Given the description of an element on the screen output the (x, y) to click on. 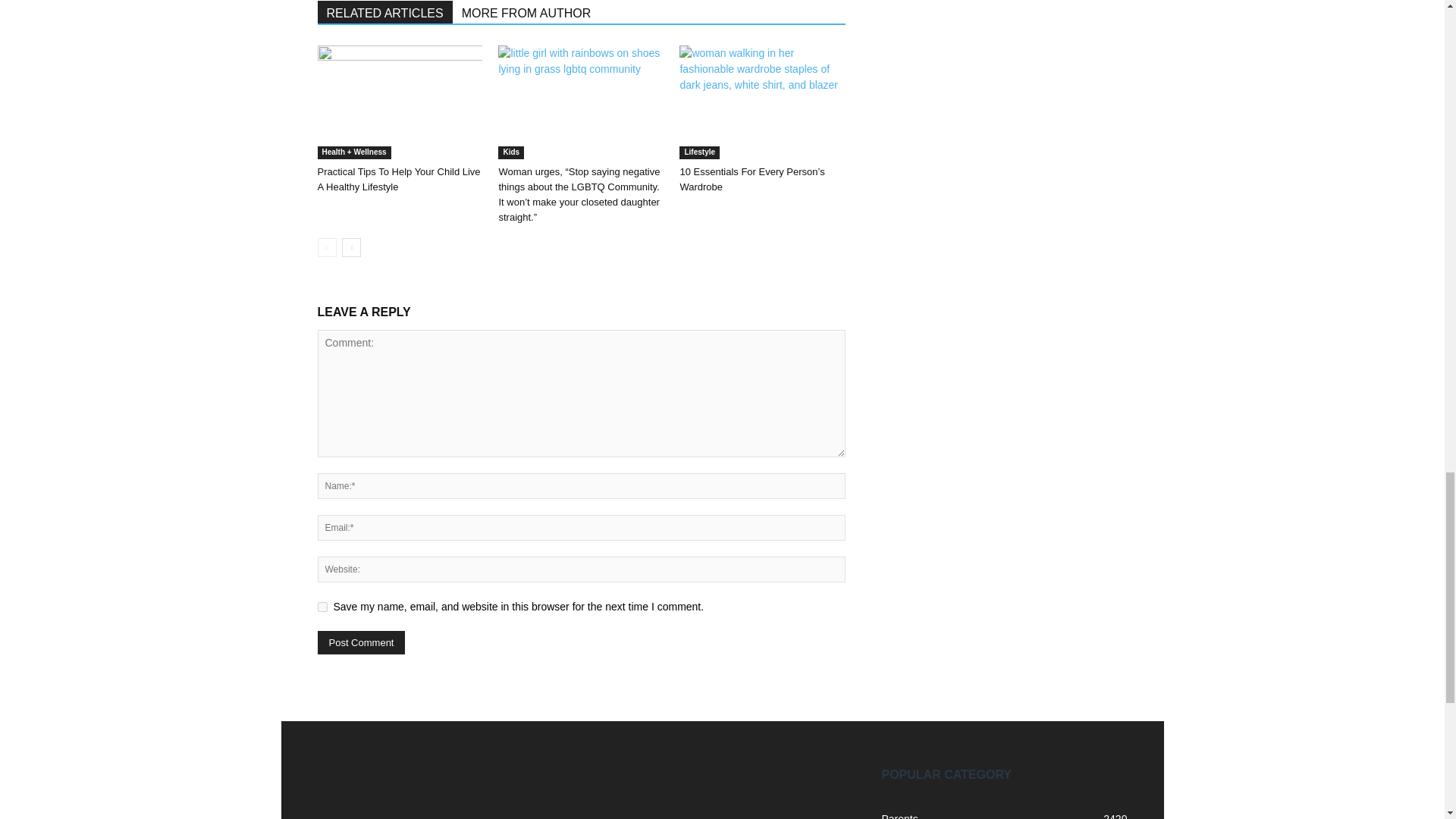
Post Comment (360, 642)
yes (321, 606)
